Given the description of an element on the screen output the (x, y) to click on. 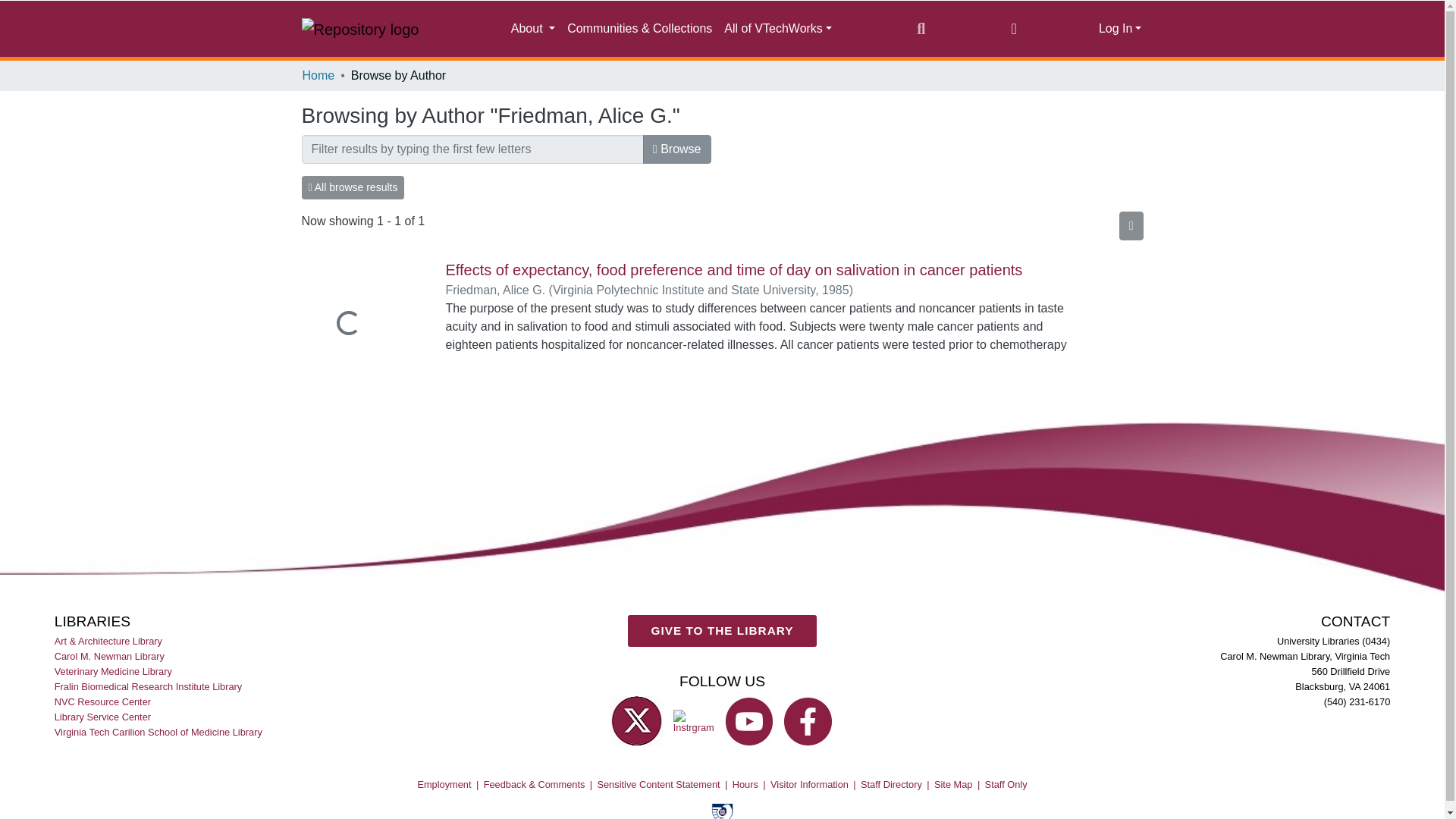
Browse (677, 149)
Home (317, 75)
Search (920, 28)
About (532, 28)
Language switch (1013, 28)
All browse results (352, 187)
Log In (1119, 28)
All of VTechWorks (777, 28)
